Given the description of an element on the screen output the (x, y) to click on. 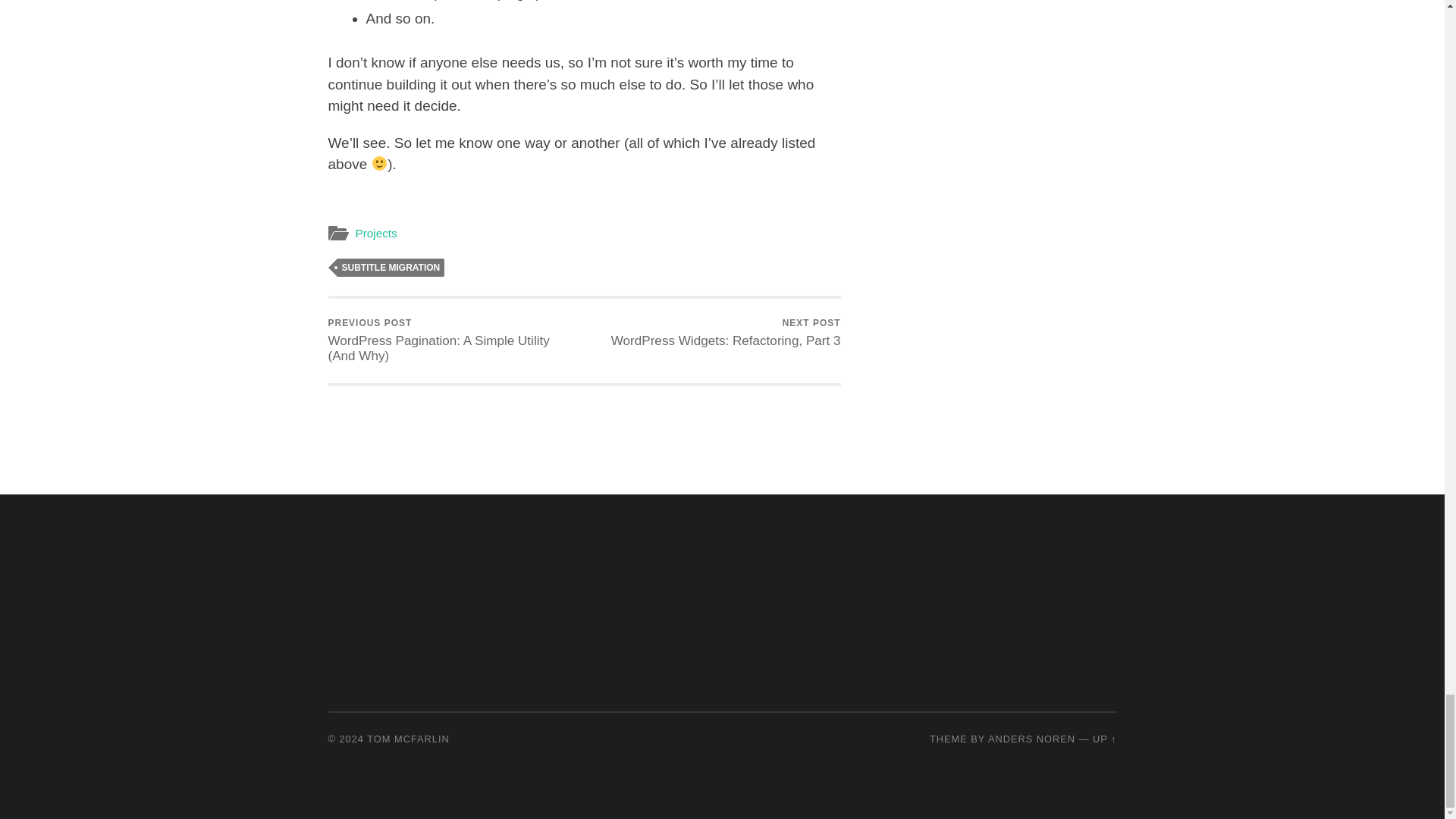
Projects (375, 232)
To the top (1104, 738)
SUBTITLE MIGRATION (390, 267)
